Given the description of an element on the screen output the (x, y) to click on. 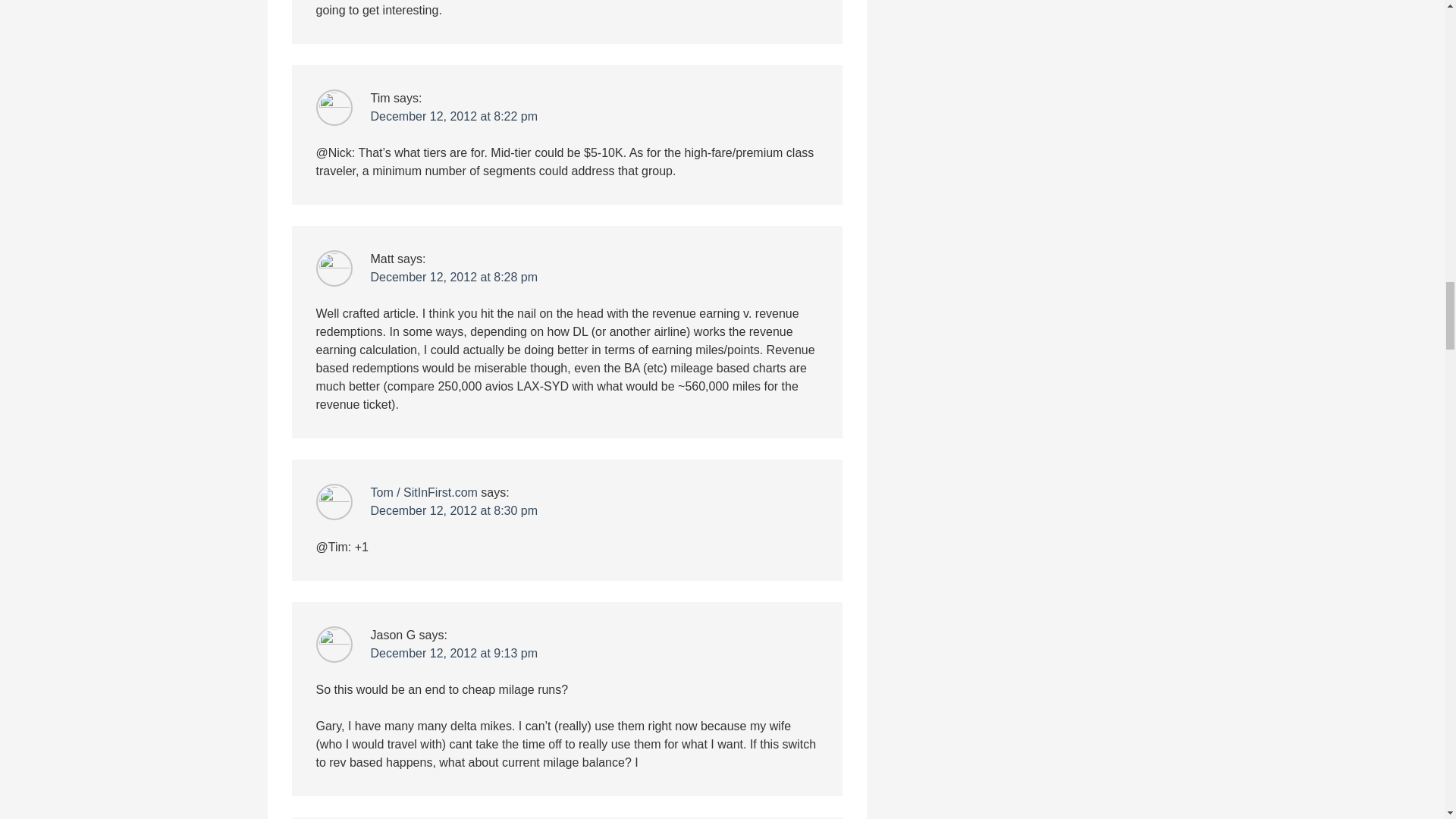
December 12, 2012 at 8:28 pm (453, 277)
December 12, 2012 at 8:22 pm (453, 115)
December 12, 2012 at 8:30 pm (453, 510)
